Given the description of an element on the screen output the (x, y) to click on. 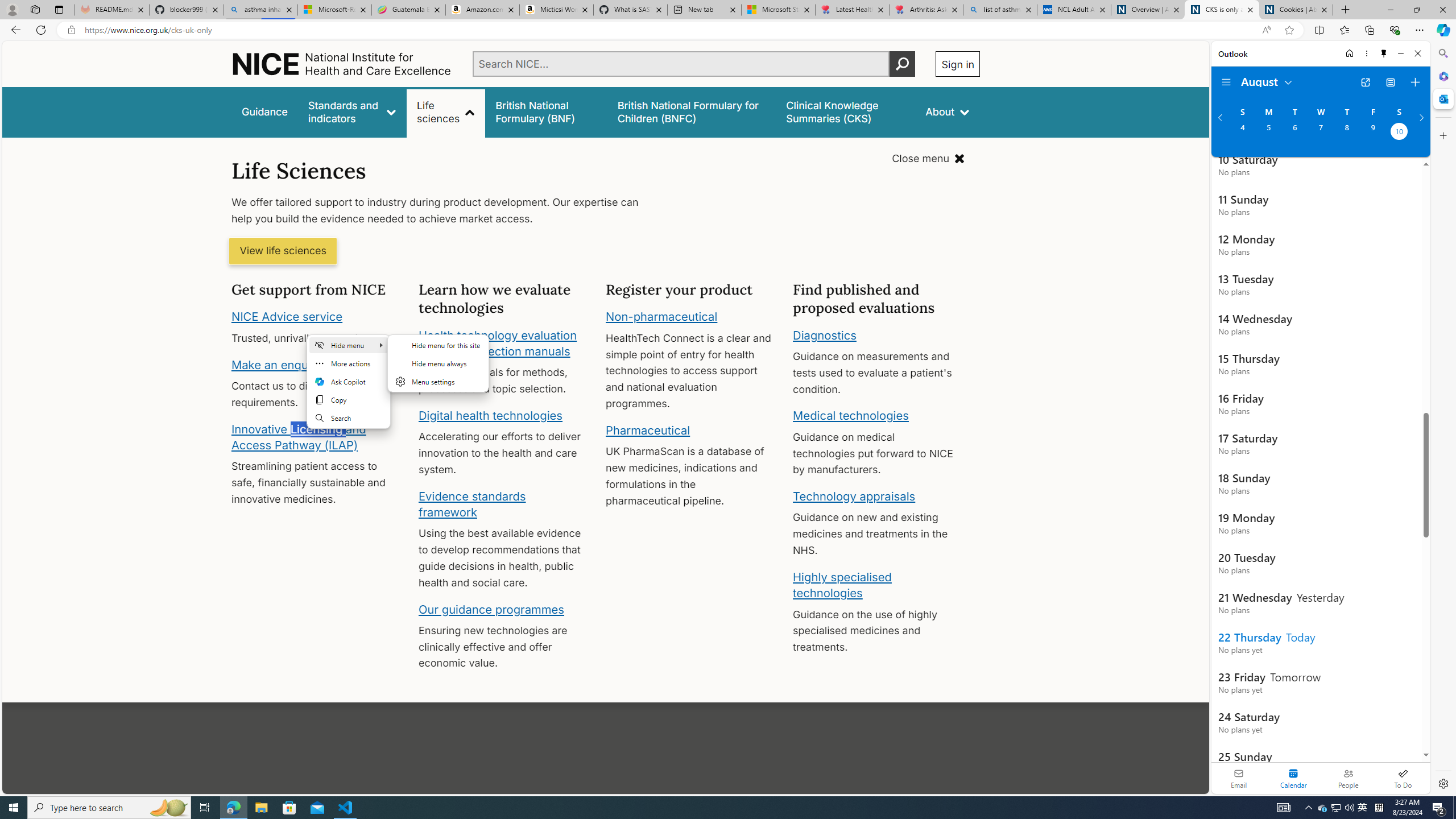
Wednesday, August 7, 2024.  (1320, 132)
